Given the description of an element on the screen output the (x, y) to click on. 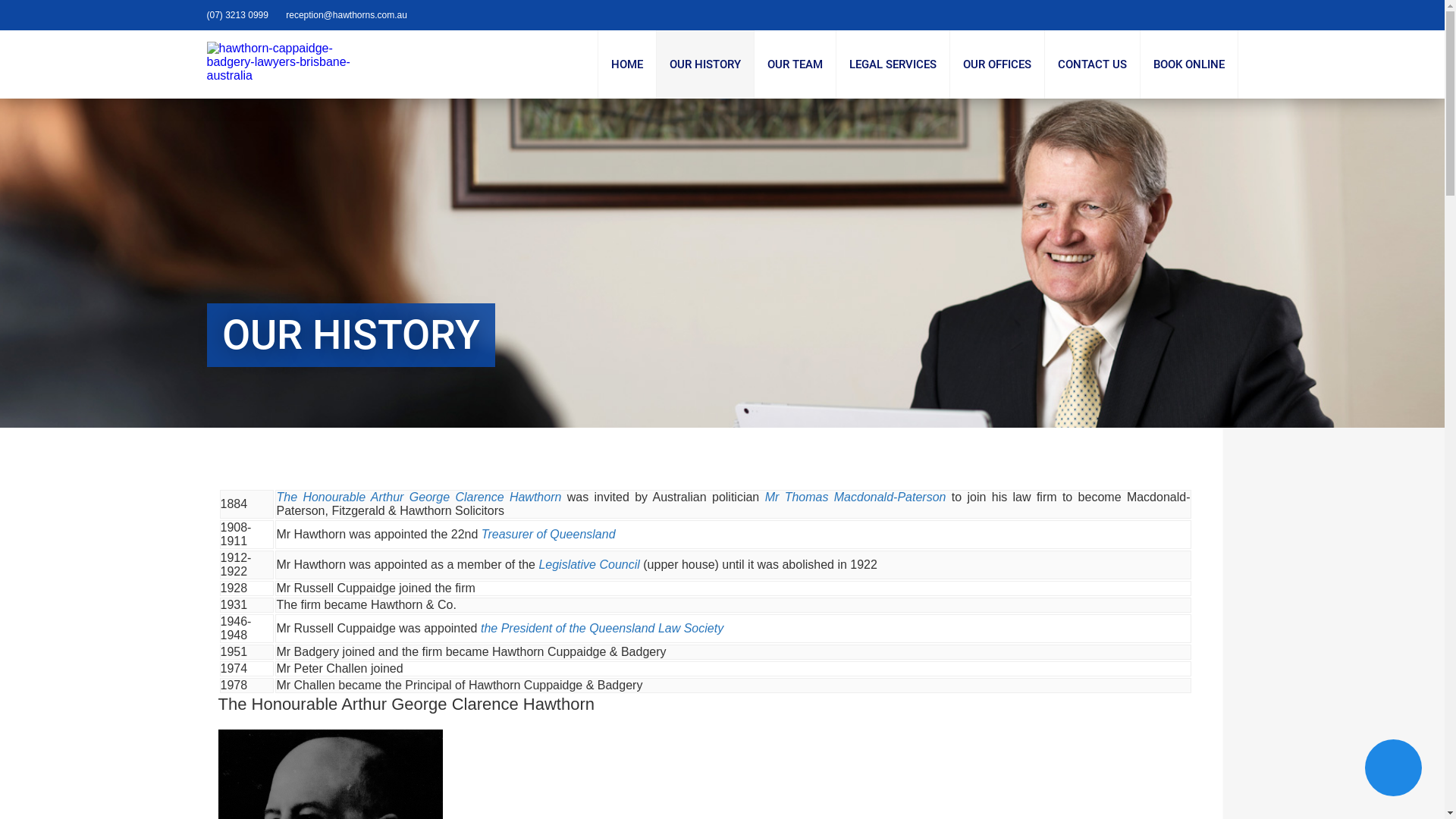
Hawthorn Cuppaidge & Badgery on LinkedIn Element type: hover (1220, 14)
Hawthorn Cuppaidge & Badgery on Google Element type: hover (1232, 14)
OUR HISTORY Element type: text (704, 64)
(07) 3213 0999 Element type: text (236, 14)
CONTACT US Element type: text (1091, 64)
reception@hawthorns.com.au Element type: text (346, 14)
Legislative Council Element type: text (589, 564)
BOOK ONLINE Element type: text (1188, 64)
OUR OFFICES Element type: text (996, 64)
Treasurer of Queensland Element type: text (548, 533)
OUR TEAM Element type: text (793, 64)
President of the Queensland Law Society Element type: text (612, 627)
Mr Thomas Macdonald-Paterson Element type: text (858, 496)
HOME Element type: text (626, 64)
The Honourable Arthur George Clarence Hawthorn Element type: text (418, 496)
LEGAL SERVICES Element type: text (891, 64)
Hawthorn Cuppaidge & Badgery on Facebook Element type: hover (1209, 14)
the Element type: text (490, 627)
